Given the description of an element on the screen output the (x, y) to click on. 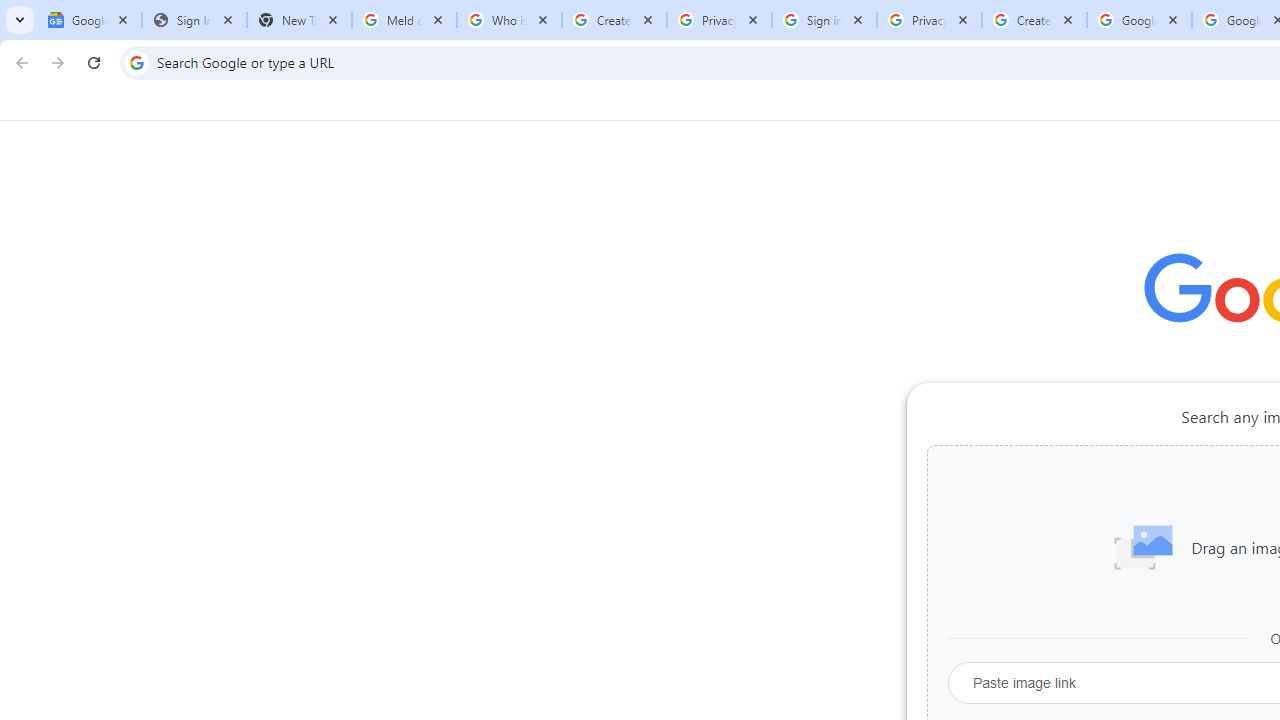
Sign In - USA TODAY (194, 20)
New Tab (299, 20)
Create your Google Account (1033, 20)
Who is my administrator? - Google Account Help (509, 20)
More actions for Sign in shortcut (1095, 466)
